Given the description of an element on the screen output the (x, y) to click on. 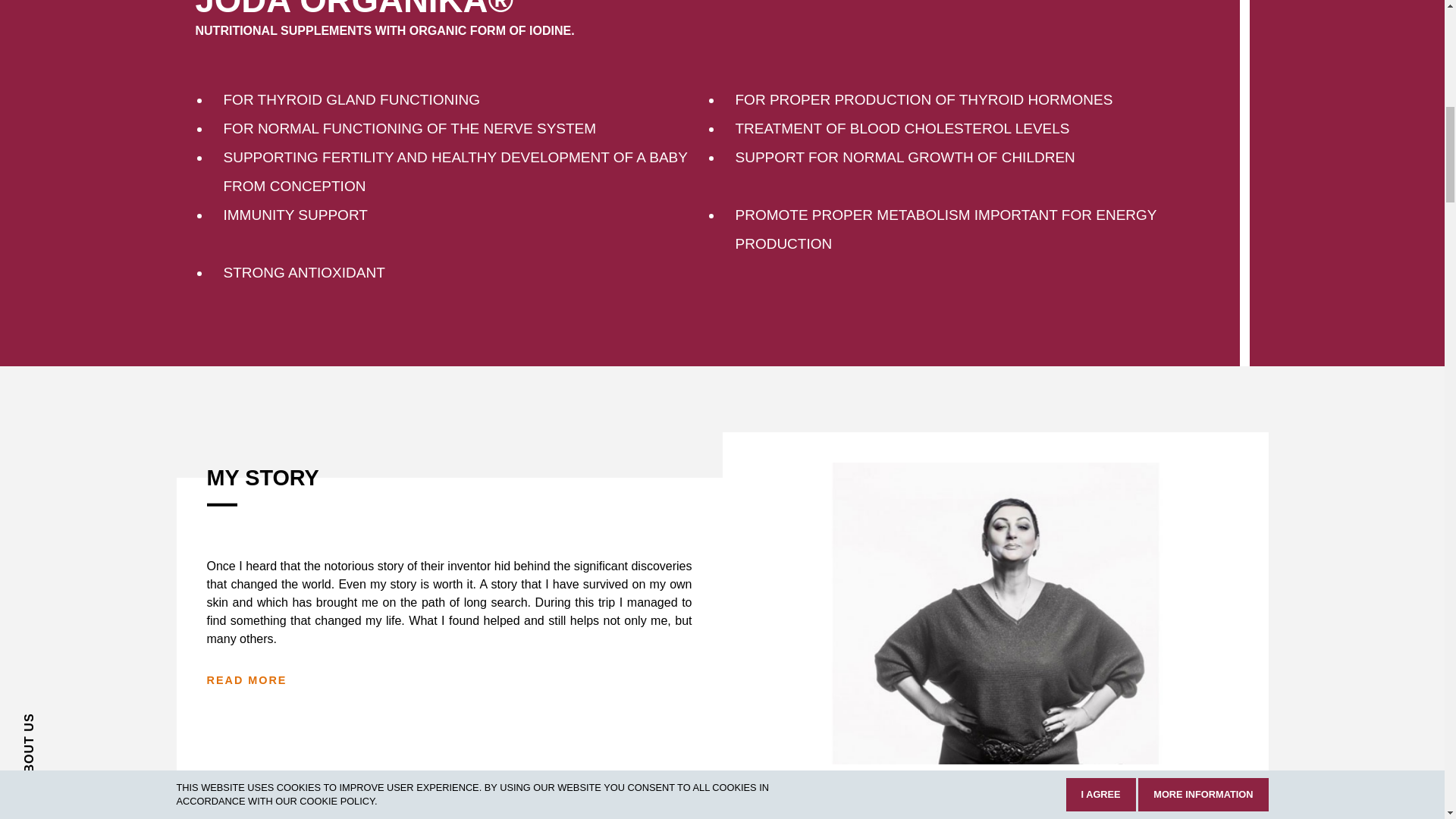
READ MORE (246, 680)
